Given the description of an element on the screen output the (x, y) to click on. 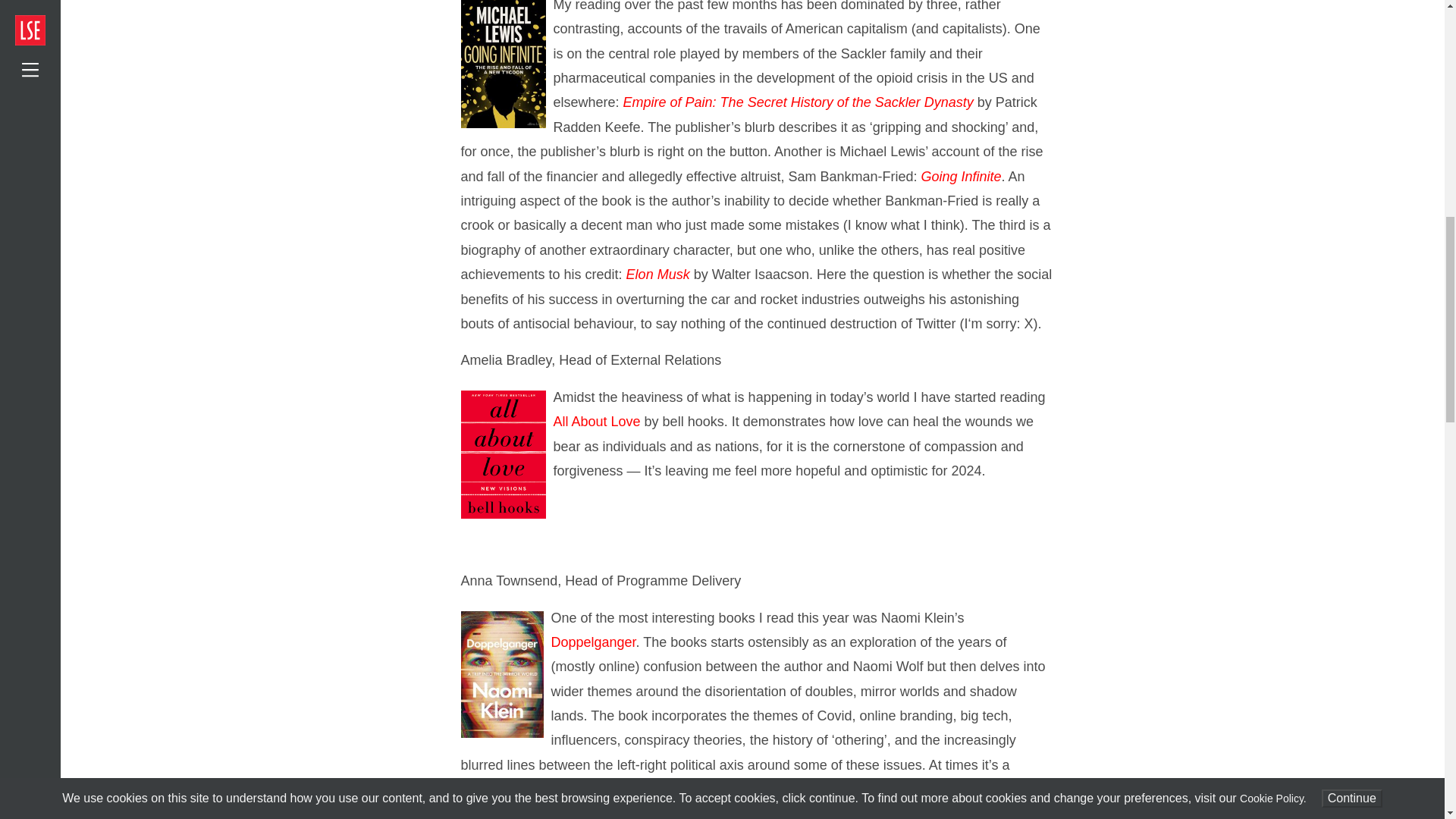
Going Infinite (960, 176)
Doppelganger (592, 642)
All About Love (596, 421)
Empire of Pain: The Secret History of the Sackler Dynasty (799, 102)
Elon Musk (658, 273)
